Given the description of an element on the screen output the (x, y) to click on. 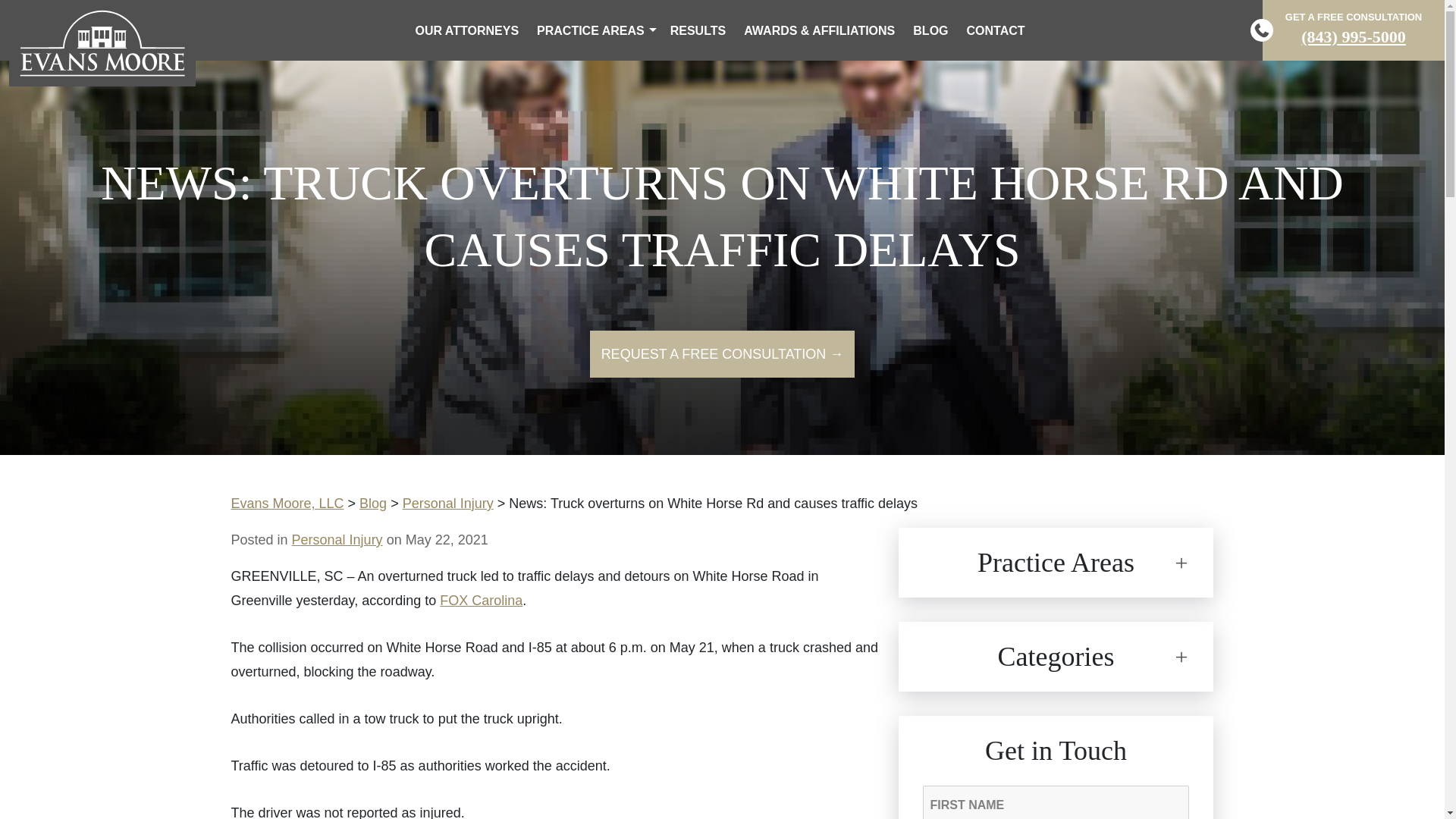
Personal Injury (337, 539)
OUR ATTORNEYS (466, 29)
Personal Injury (448, 503)
PRACTICE AREAS (594, 29)
Evans Moore, LLC (286, 503)
Go to Blog. (373, 503)
FOX Carolina (480, 600)
RESULTS (698, 29)
CONTACT (995, 29)
Go to the Personal Injury Category archives. (448, 503)
